Given the description of an element on the screen output the (x, y) to click on. 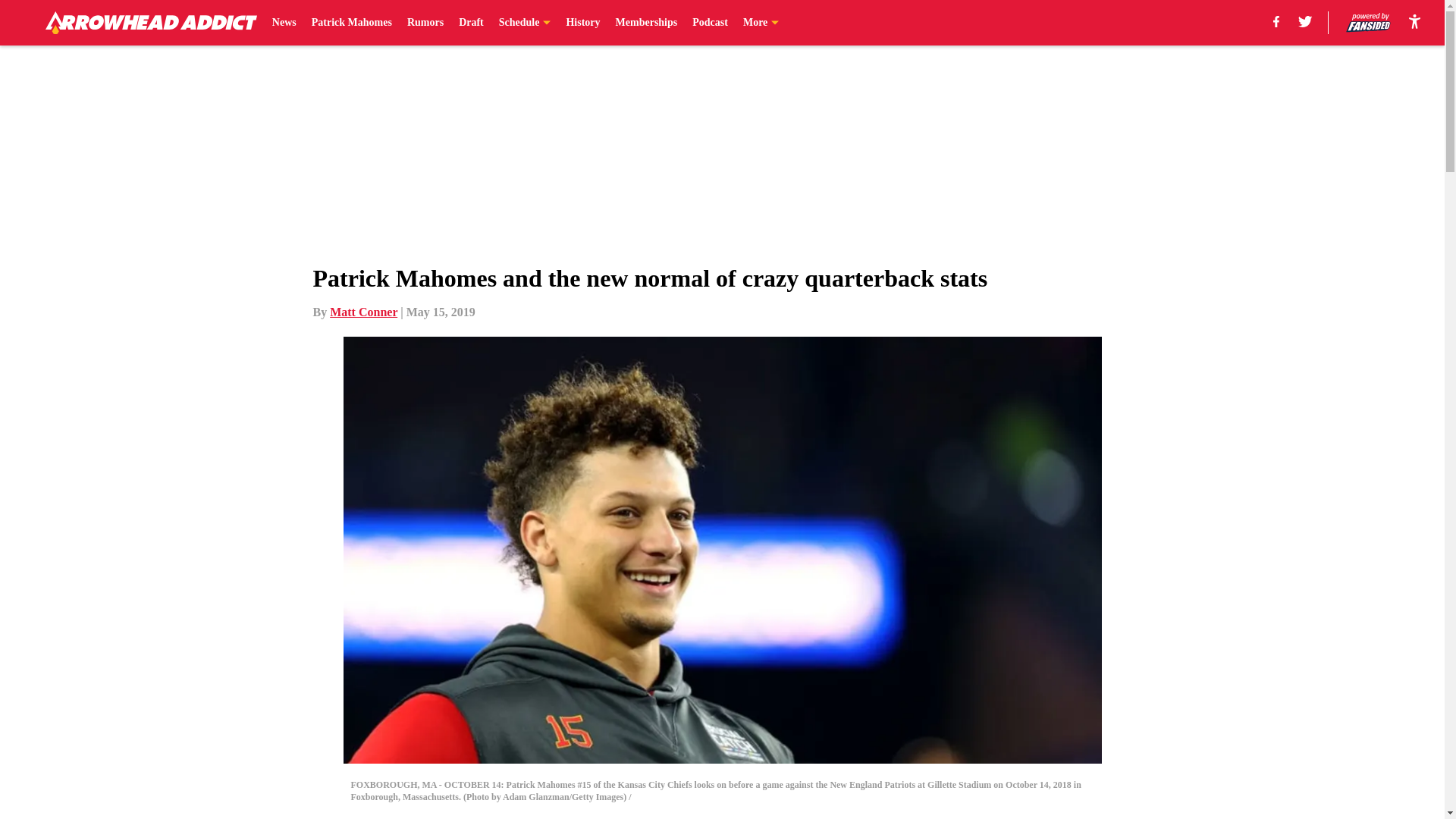
Matt Conner (363, 311)
Patrick Mahomes (351, 22)
History (582, 22)
News (284, 22)
Rumors (425, 22)
Podcast (710, 22)
Memberships (646, 22)
Draft (470, 22)
